Given the description of an element on the screen output the (x, y) to click on. 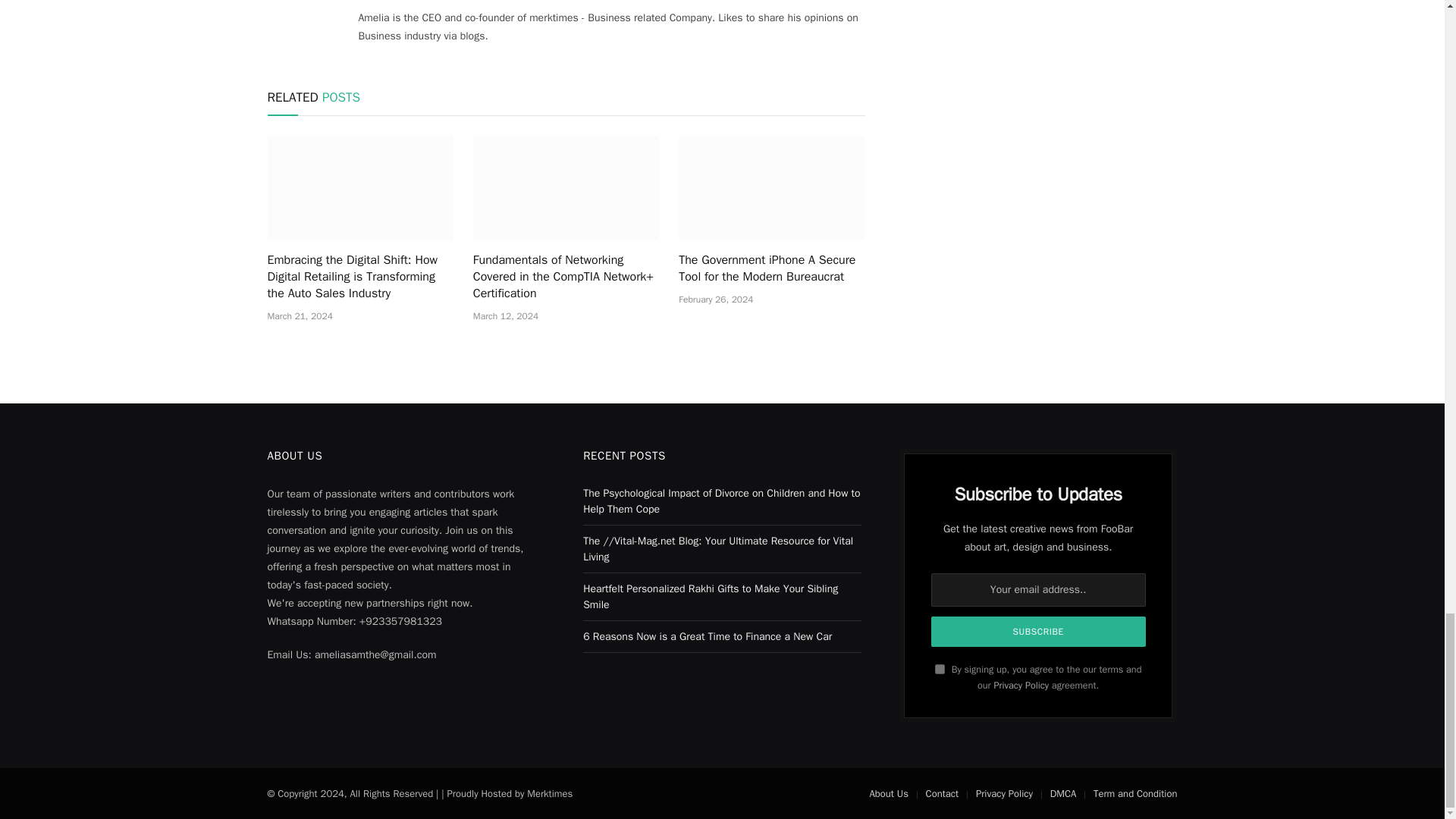
Subscribe (1038, 631)
Privacy Policy (1020, 685)
on (939, 669)
About Us (888, 793)
Subscribe (1038, 631)
6 Reasons Now is a Great Time to Finance a New Car (707, 635)
